Given the description of an element on the screen output the (x, y) to click on. 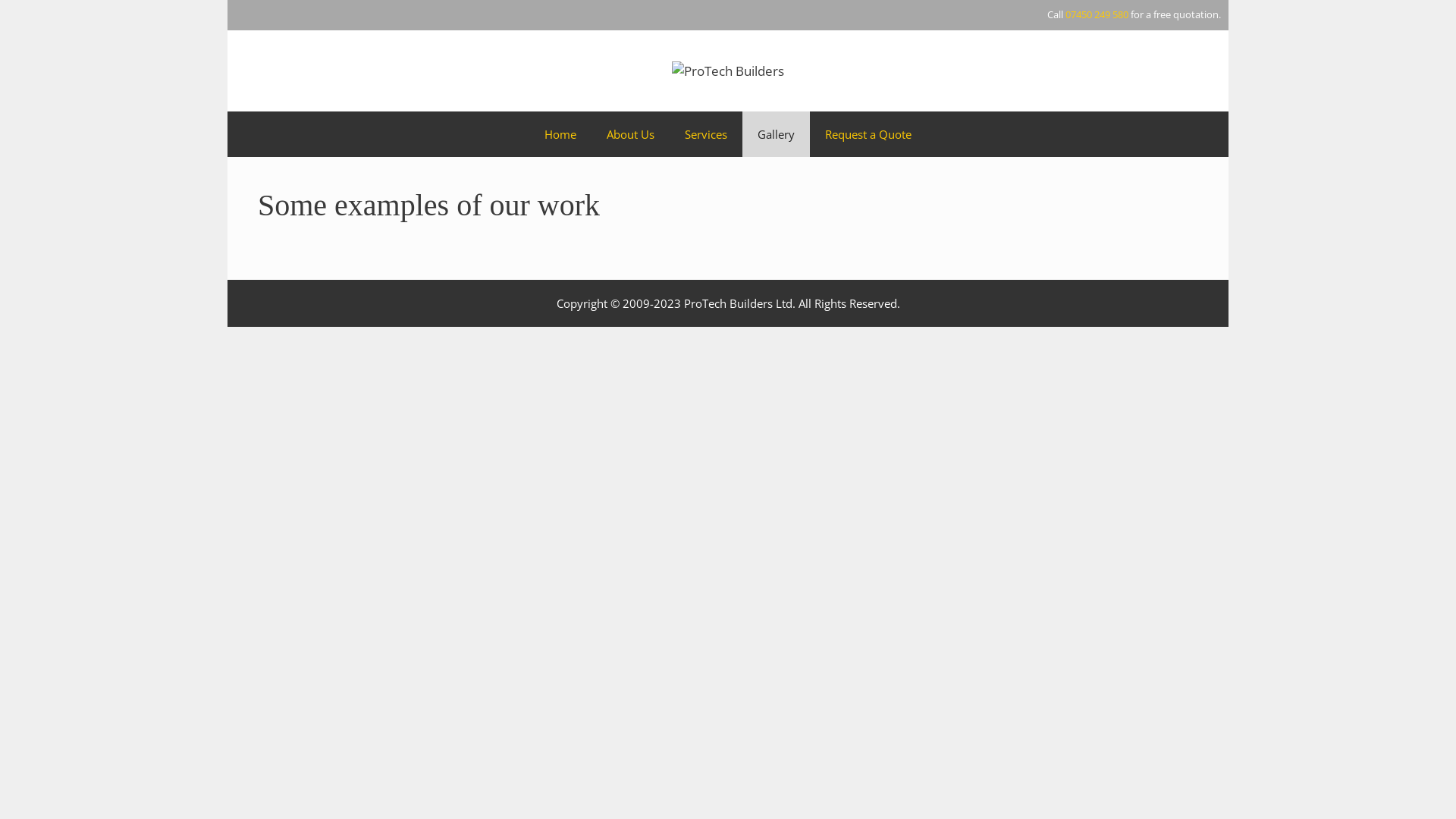
Services Element type: text (705, 133)
Gallery Element type: text (775, 133)
Request a Quote Element type: text (867, 133)
Home Element type: text (560, 133)
07450 249 580 Element type: text (1096, 14)
About Us Element type: text (630, 133)
